Given the description of an element on the screen output the (x, y) to click on. 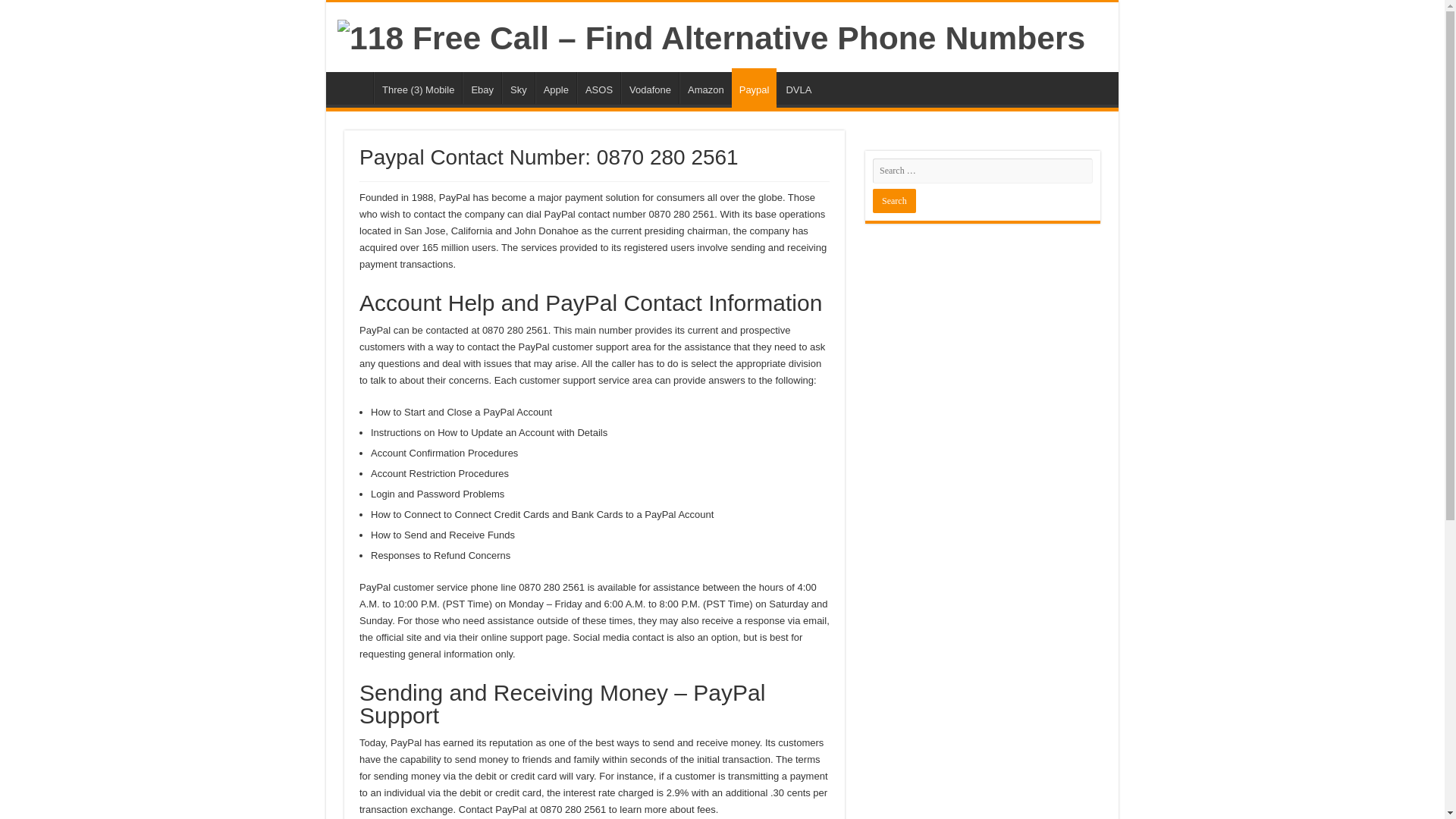
Ebay (481, 88)
Amazon (705, 88)
Paypal (754, 87)
Search (893, 200)
Search (893, 200)
Home (352, 88)
Sky (518, 88)
DVLA (797, 88)
Vodafone (649, 88)
Search (893, 200)
ASOS (598, 88)
Apple (555, 88)
